Given the description of an element on the screen output the (x, y) to click on. 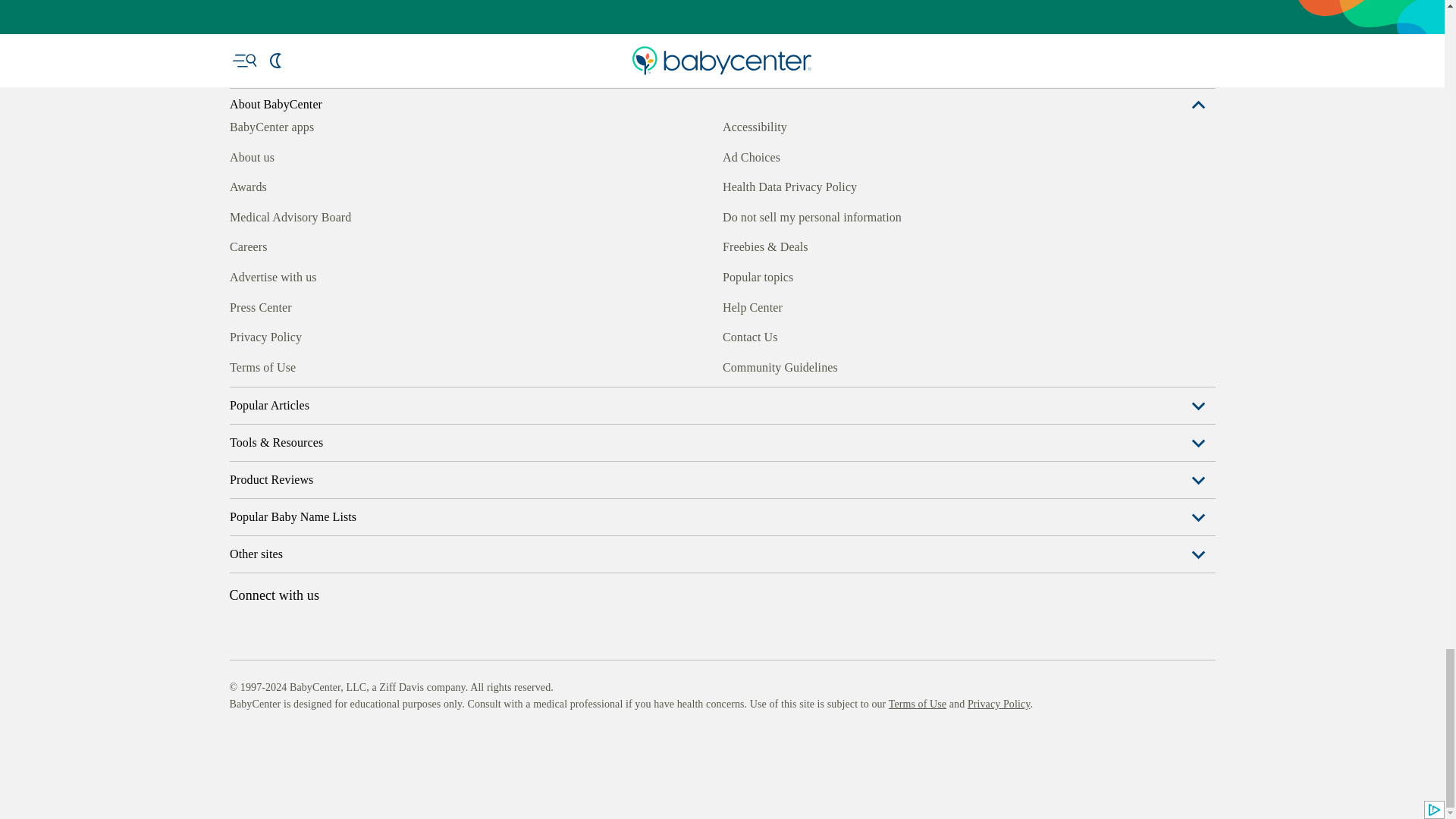
BabyCenter Facebook page (239, 576)
BabyCenter Twitter feed (379, 576)
BabyCenter Instagram feed (274, 576)
BabyCenter Pinterest board (309, 576)
BabyCenter YouTube channel (344, 576)
